Given the description of an element on the screen output the (x, y) to click on. 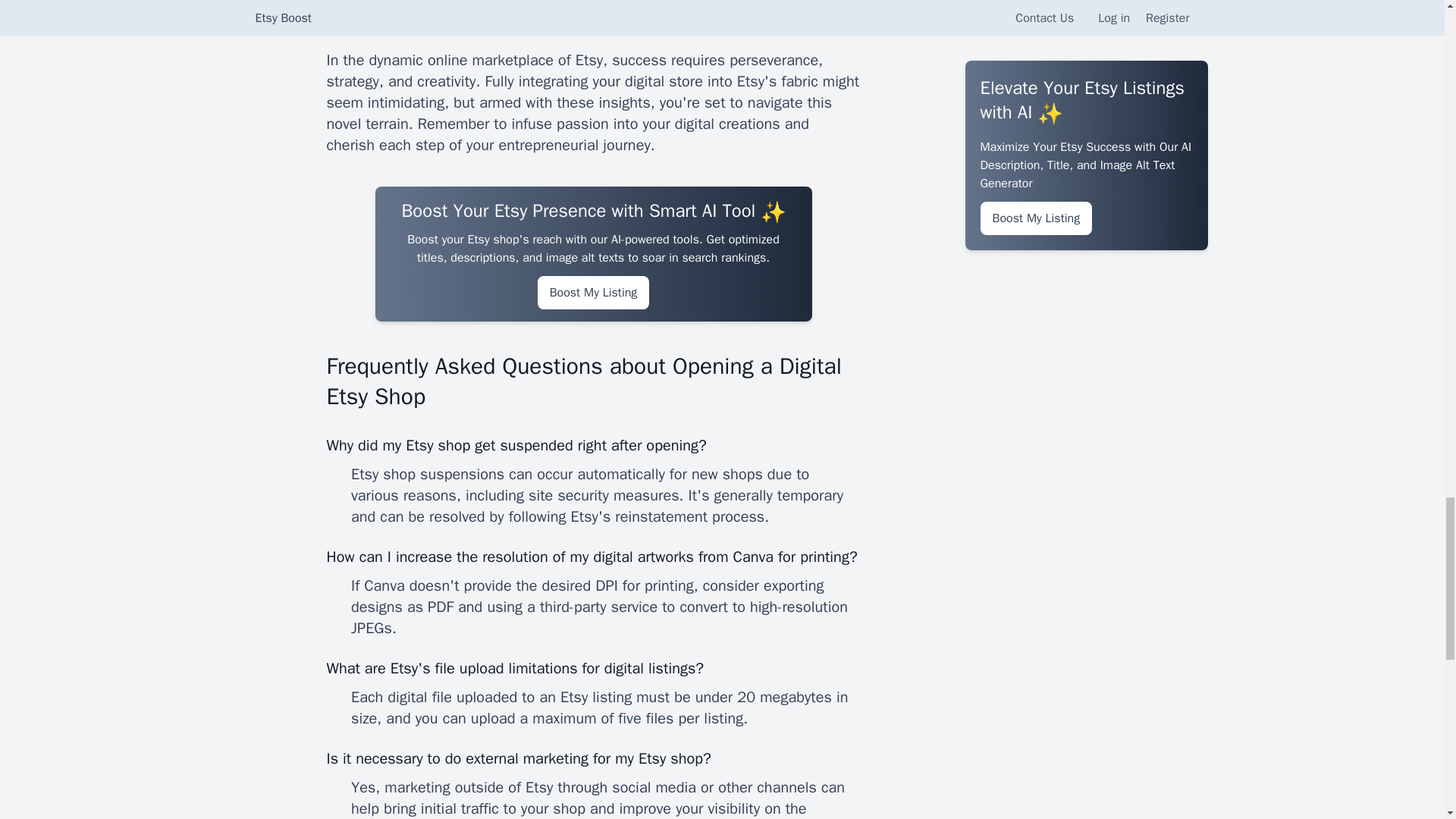
Boost My Listing (593, 292)
